Given the description of an element on the screen output the (x, y) to click on. 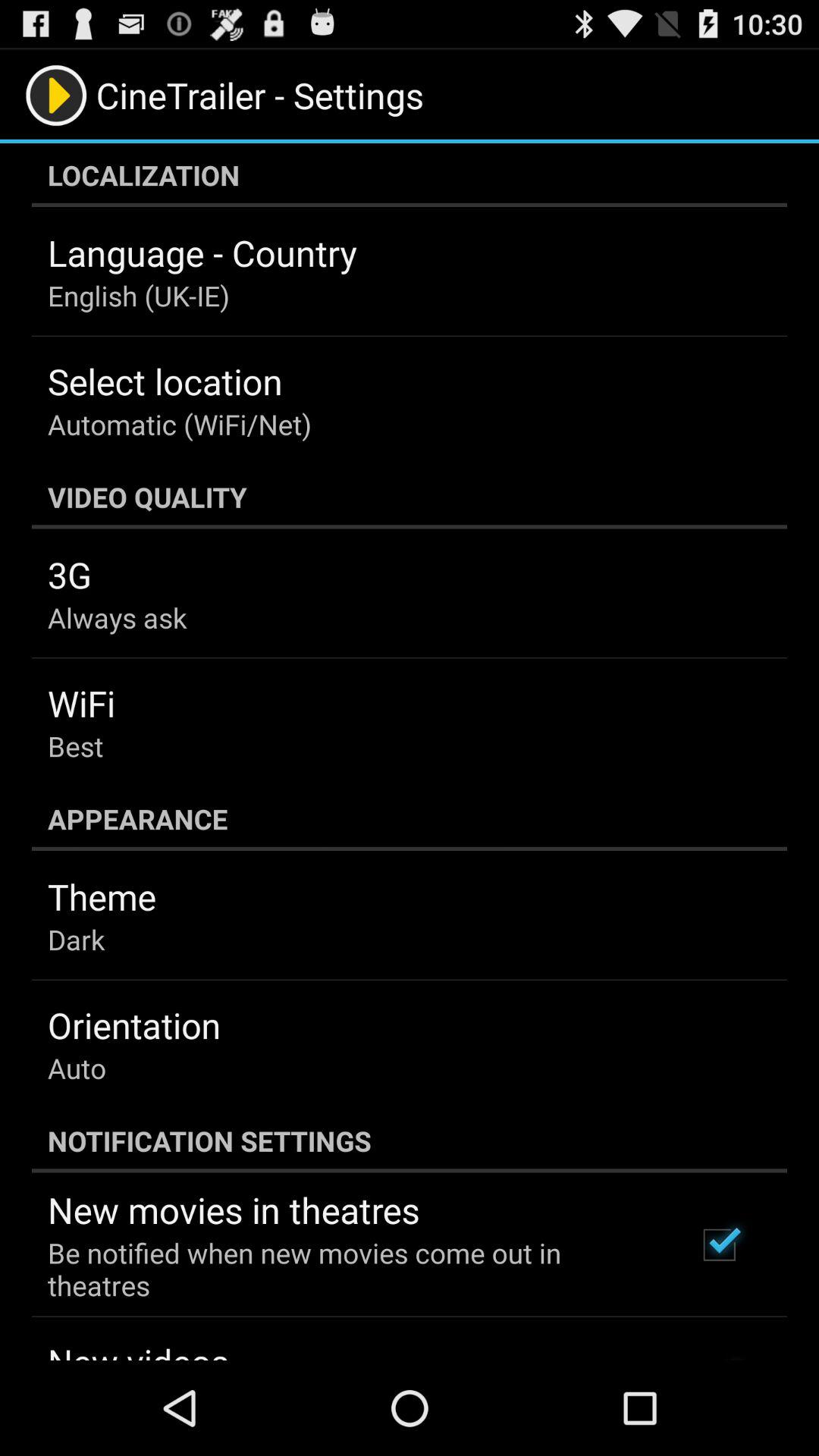
scroll until the theme (101, 896)
